Given the description of an element on the screen output the (x, y) to click on. 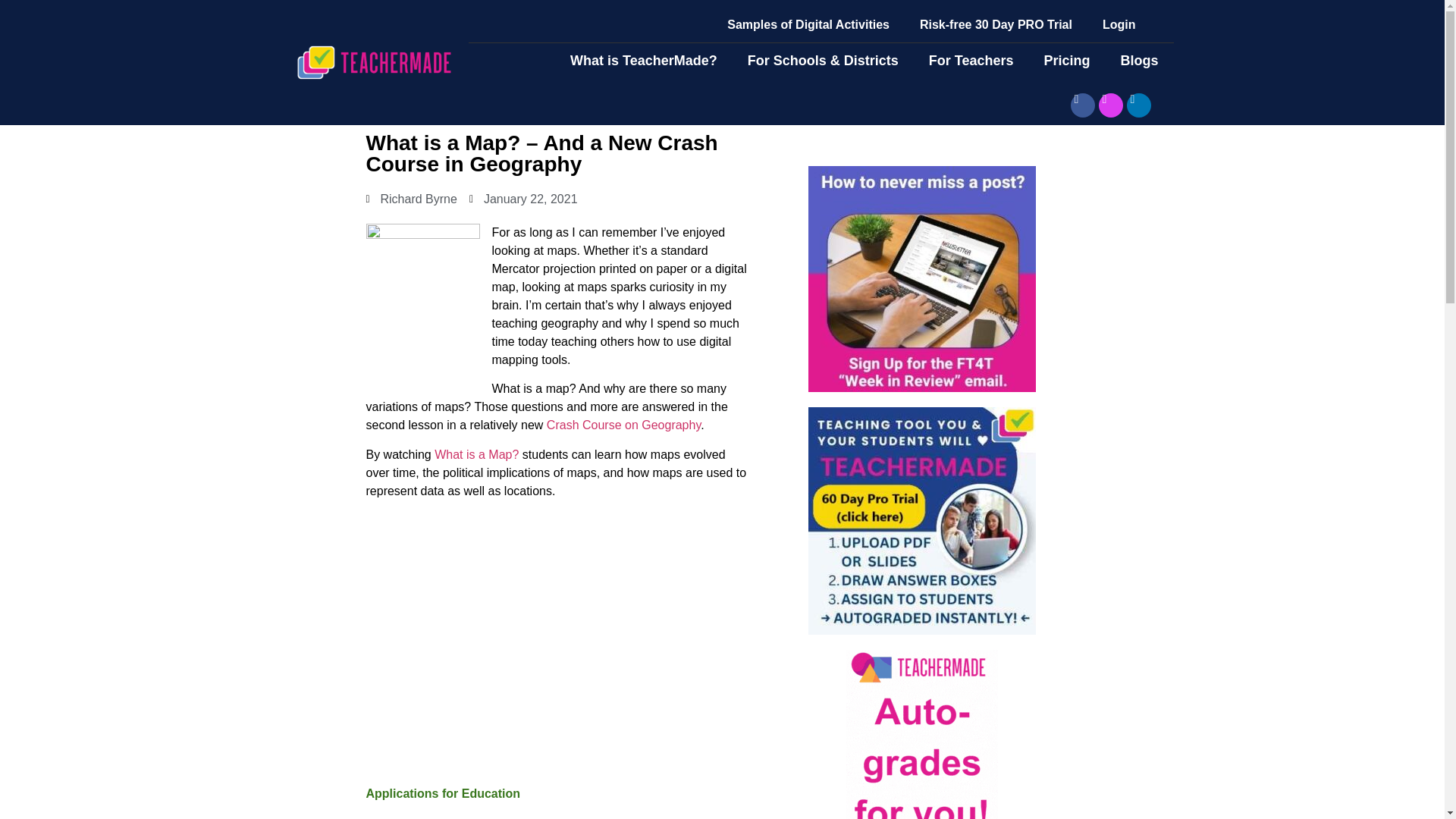
What is TeacherMade? (643, 60)
Login (1119, 24)
Blogs (1139, 60)
For Teachers (971, 60)
Risk-free 30 Day PRO Trial (995, 24)
Samples of Digital Activities (807, 24)
Pricing (1066, 60)
